Given the description of an element on the screen output the (x, y) to click on. 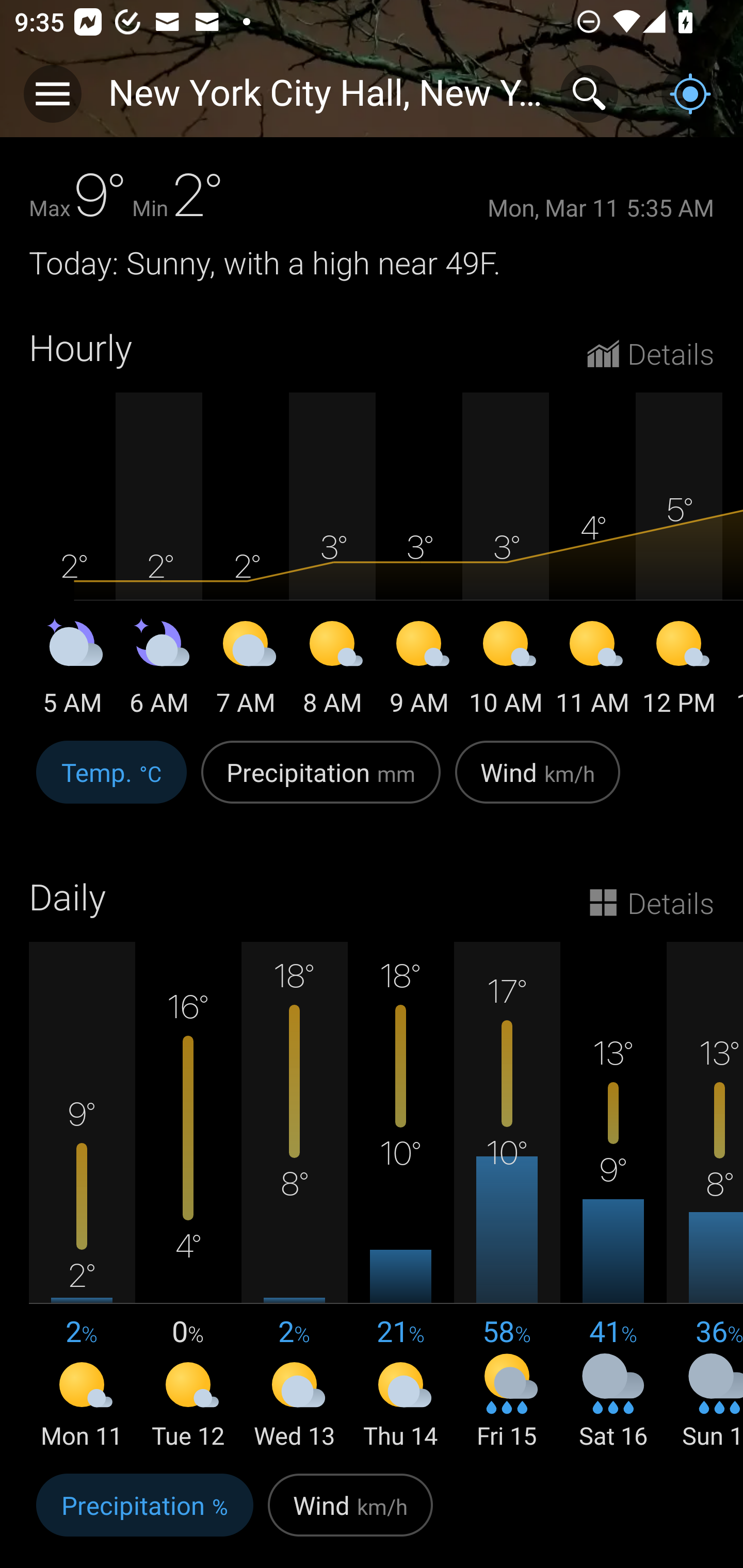
5 AM (71, 670)
6 AM (158, 670)
7 AM (245, 670)
8 AM (332, 670)
9 AM (418, 670)
10 AM (505, 670)
11 AM (592, 670)
12 PM (679, 670)
Temp. °C (110, 782)
Precipitation mm (320, 782)
Wind km/h (537, 782)
9° 2° 2 % Mon 11 (81, 1196)
16° 4° 0 % Tue 12 (188, 1196)
18° 8° 2 % Wed 13 (294, 1196)
18° 10° 21 % Thu 14 (400, 1196)
17° 10° 58 % Fri 15 (506, 1196)
13° 9° 41 % Sat 16 (613, 1196)
13° 8° 36 % Sun 17 (704, 1196)
Precipitation % (144, 1515)
Wind km/h (349, 1515)
